Given the description of an element on the screen output the (x, y) to click on. 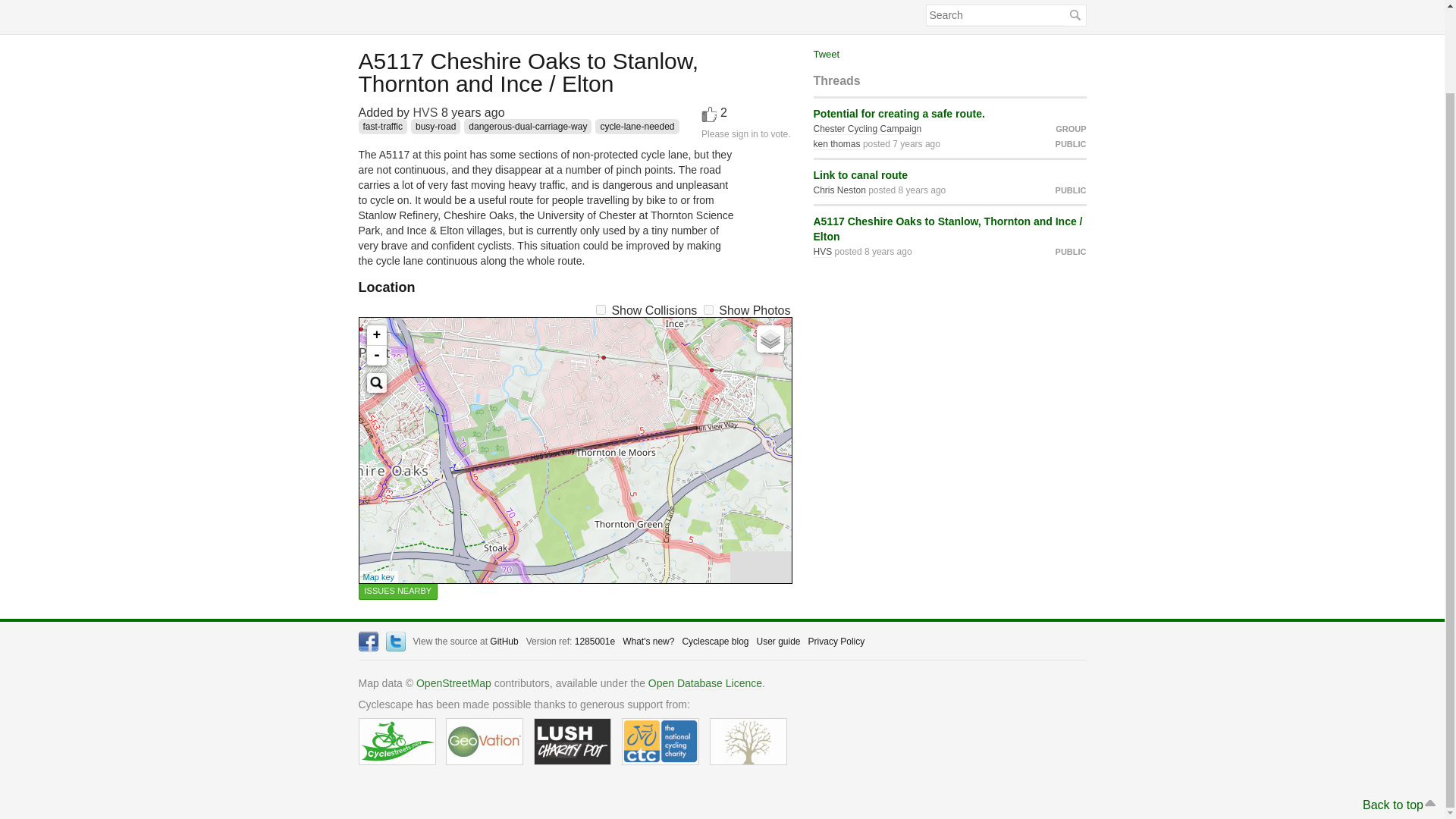
GO (1074, 14)
ken thomas (836, 143)
04 December, 2016 18:11 (888, 251)
sign in (745, 133)
Zoom in (376, 335)
- (376, 355)
08 January, 2017 22:06 (922, 190)
dangerous-dual-carriage-way (527, 126)
03 December, 2016 14:31 (473, 112)
